Given the description of an element on the screen output the (x, y) to click on. 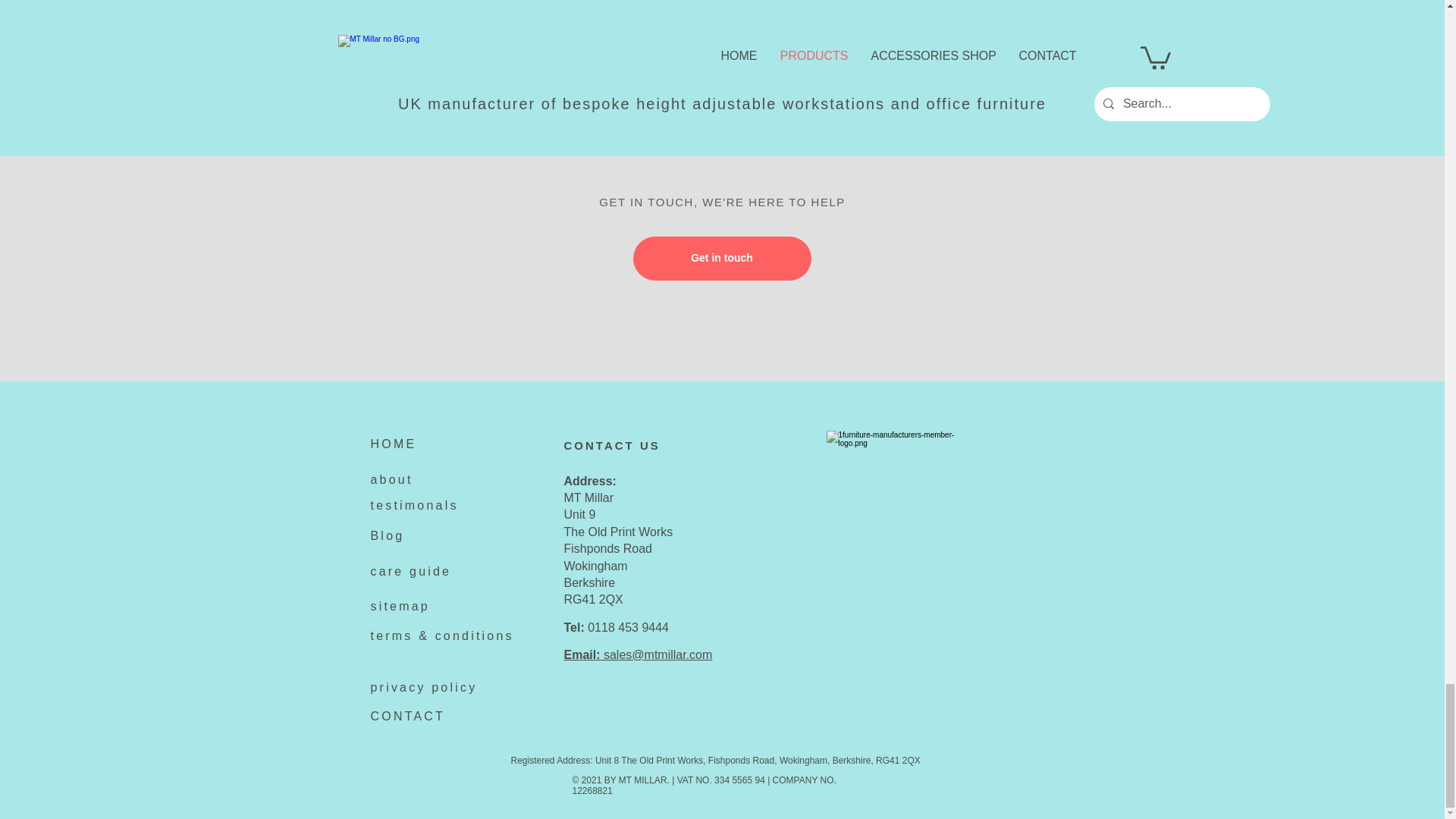
privacy policy (423, 686)
Tel: 0118 453 9444 (616, 626)
about (390, 479)
HOME (392, 443)
care guide (410, 571)
CONTACT (407, 716)
Get in touch (720, 258)
Blog (386, 535)
sitemap (399, 605)
testimonals (413, 504)
